Given the description of an element on the screen output the (x, y) to click on. 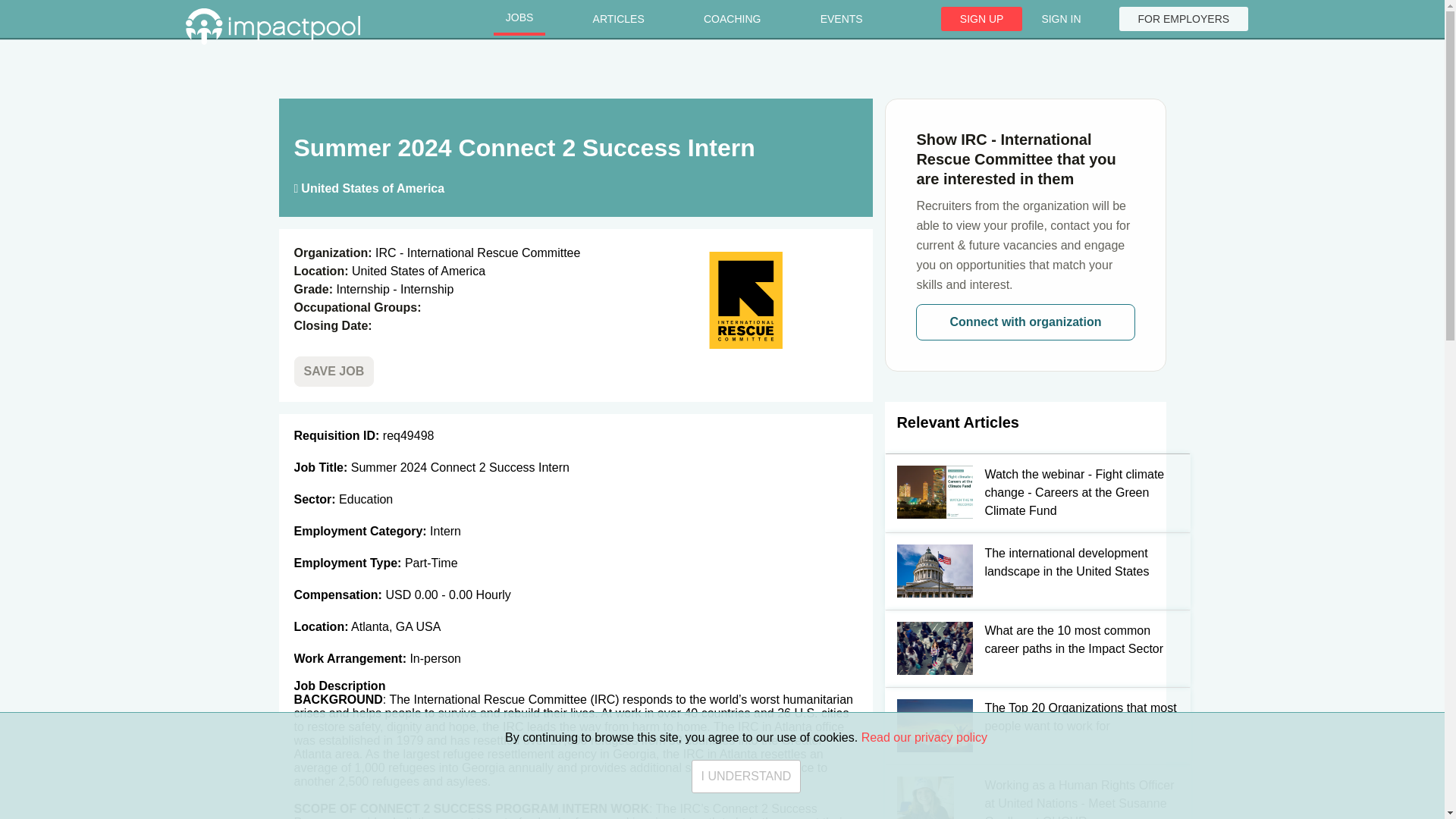
SIGN IN (1060, 18)
JOBS (519, 19)
The international development landscape in the United States (1025, 570)
SAVE JOB (334, 371)
Connect with organization (1024, 321)
COACHING (732, 19)
EVENTS (841, 19)
FOR EMPLOYERS (1184, 18)
Read our privacy policy (924, 816)
SIGN UP (981, 18)
The Top 20 Organizations that most people want to work for (1025, 725)
ARTICLES (618, 19)
